Given the description of an element on the screen output the (x, y) to click on. 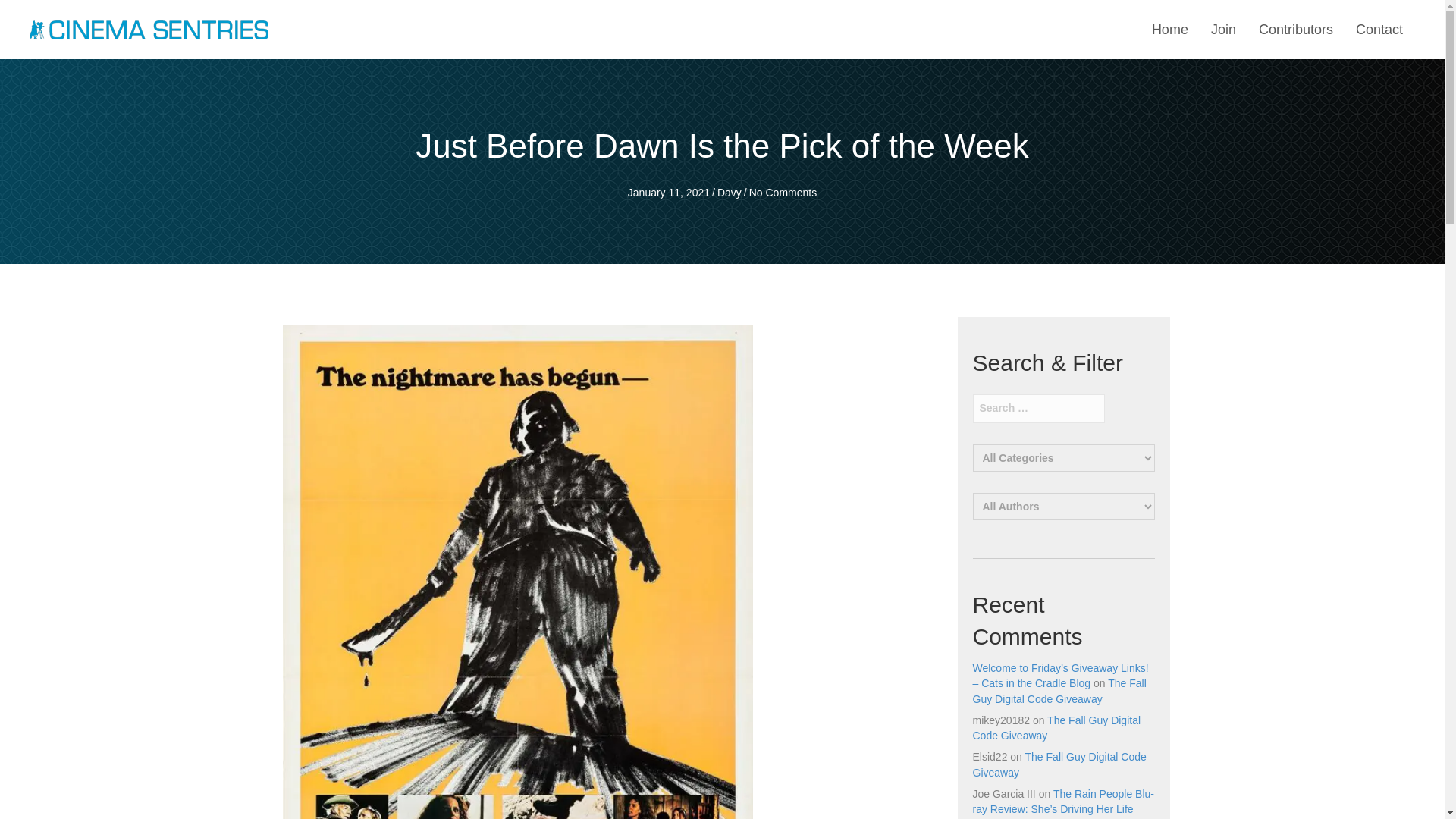
No Comments (782, 192)
Davy (729, 192)
The Fall Guy Digital Code Giveaway (1058, 764)
The Fall Guy Digital Code Giveaway (1056, 728)
Join (1223, 29)
Contact (1379, 29)
Contributors (1295, 29)
The Fall Guy Digital Code Giveaway (1058, 690)
Home (1169, 29)
Cinema Sentries (148, 28)
